Given the description of an element on the screen output the (x, y) to click on. 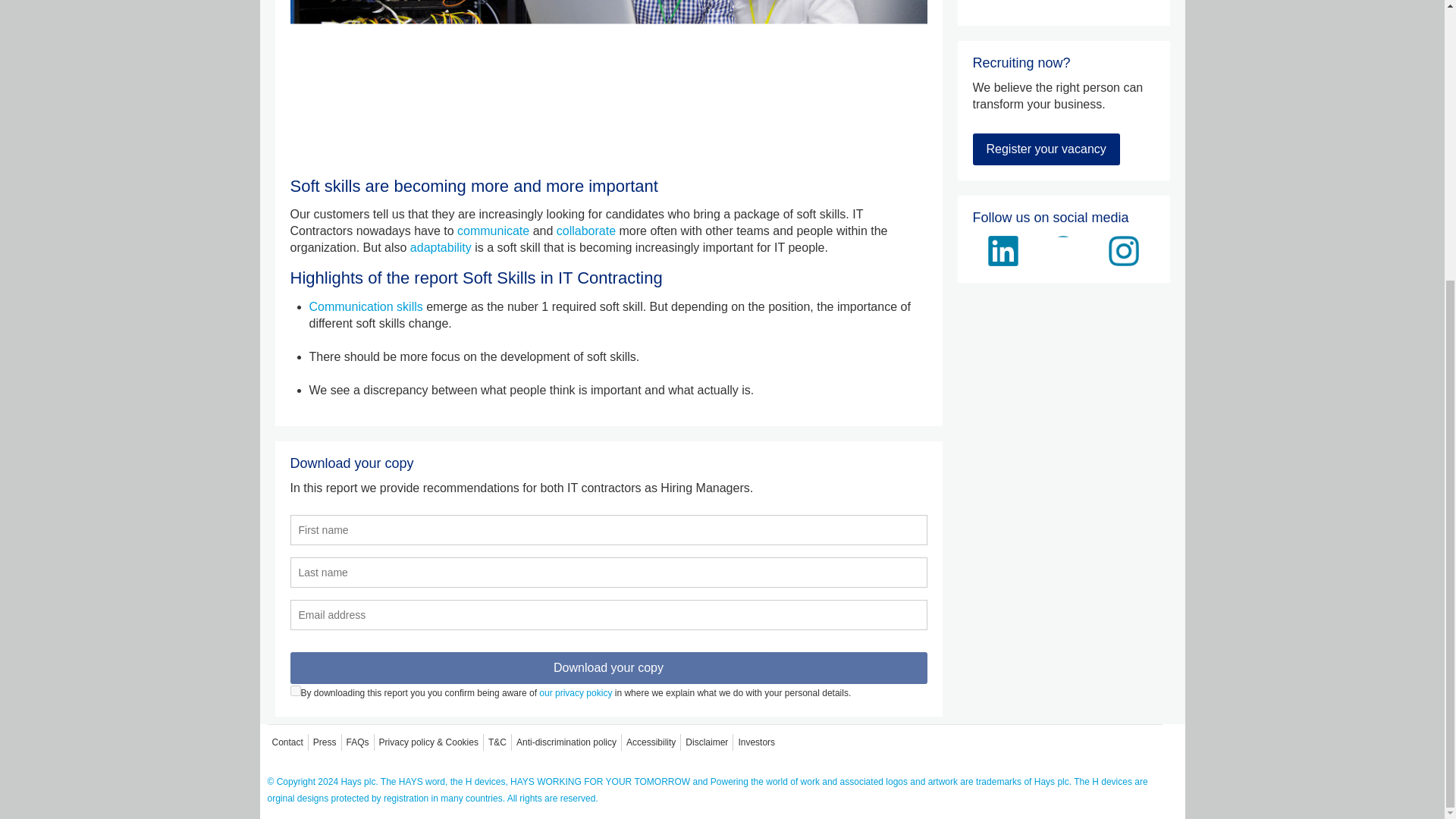
Download your copy (607, 667)
Follow Hays on Facebook - Hays.nl (1063, 250)
Download your copy (607, 667)
adaptability (440, 246)
collaborate  (588, 230)
on (294, 690)
Soft Skills IT Contracting - Hays.nl (607, 83)
Follow Hays on LinkedIn - Hays.nl (1002, 250)
Communication skills (365, 306)
Volg Hays op Instagram - Hays.nl (1123, 250)
